Given the description of an element on the screen output the (x, y) to click on. 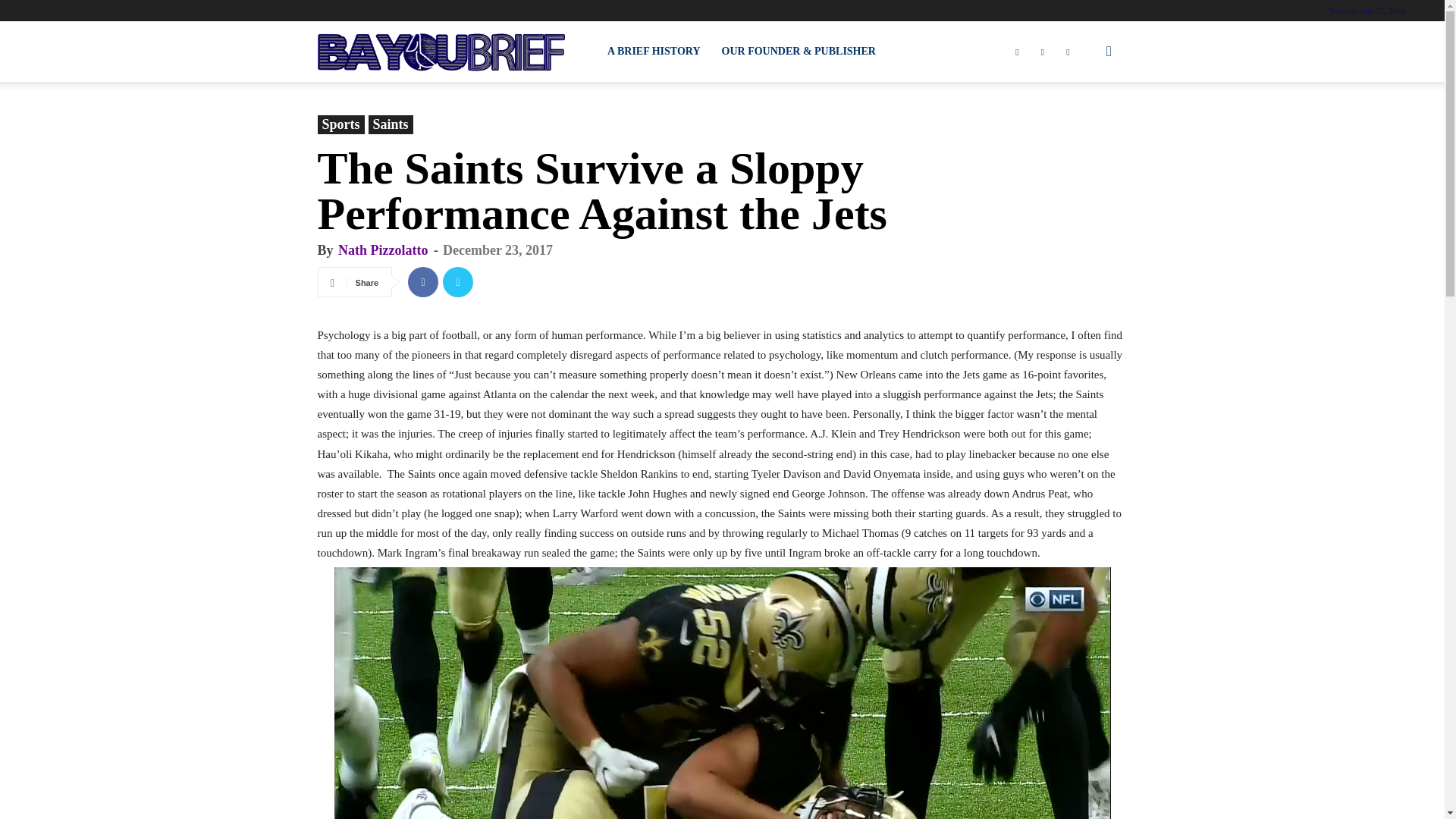
Twitter (457, 281)
Search (1085, 124)
Facebook (422, 281)
Nath Pizzolatto (382, 249)
Sports (340, 124)
Bayou Brief (440, 51)
Saints (390, 124)
A BRIEF HISTORY (653, 51)
